Given the description of an element on the screen output the (x, y) to click on. 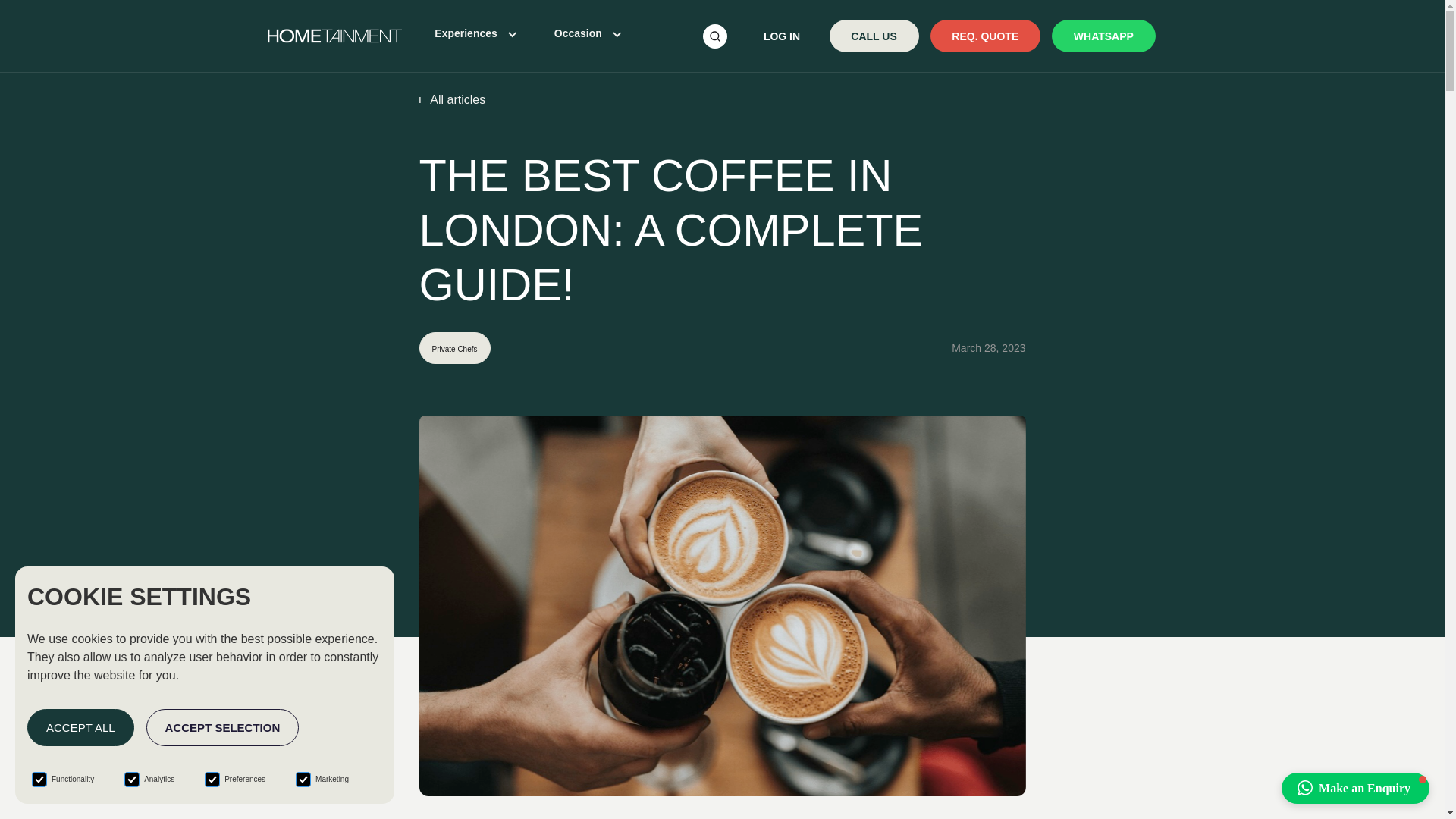
Occasion (578, 33)
Experiences (465, 33)
